Given the description of an element on the screen output the (x, y) to click on. 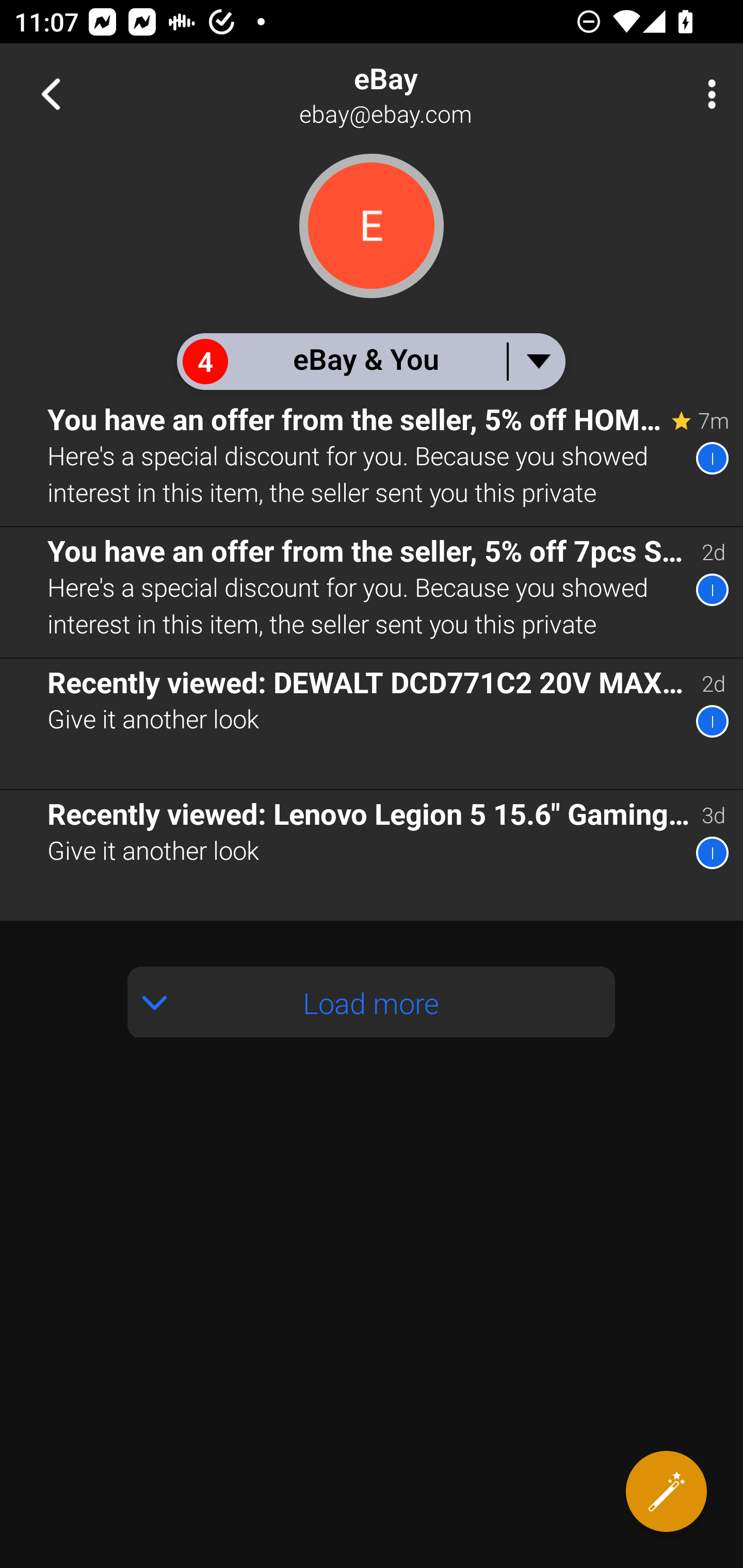
Navigate up (50, 93)
eBay ebay@ebay.com (436, 93)
More Options (706, 93)
4 eBay & You (370, 361)
Load more (371, 1001)
